Given the description of an element on the screen output the (x, y) to click on. 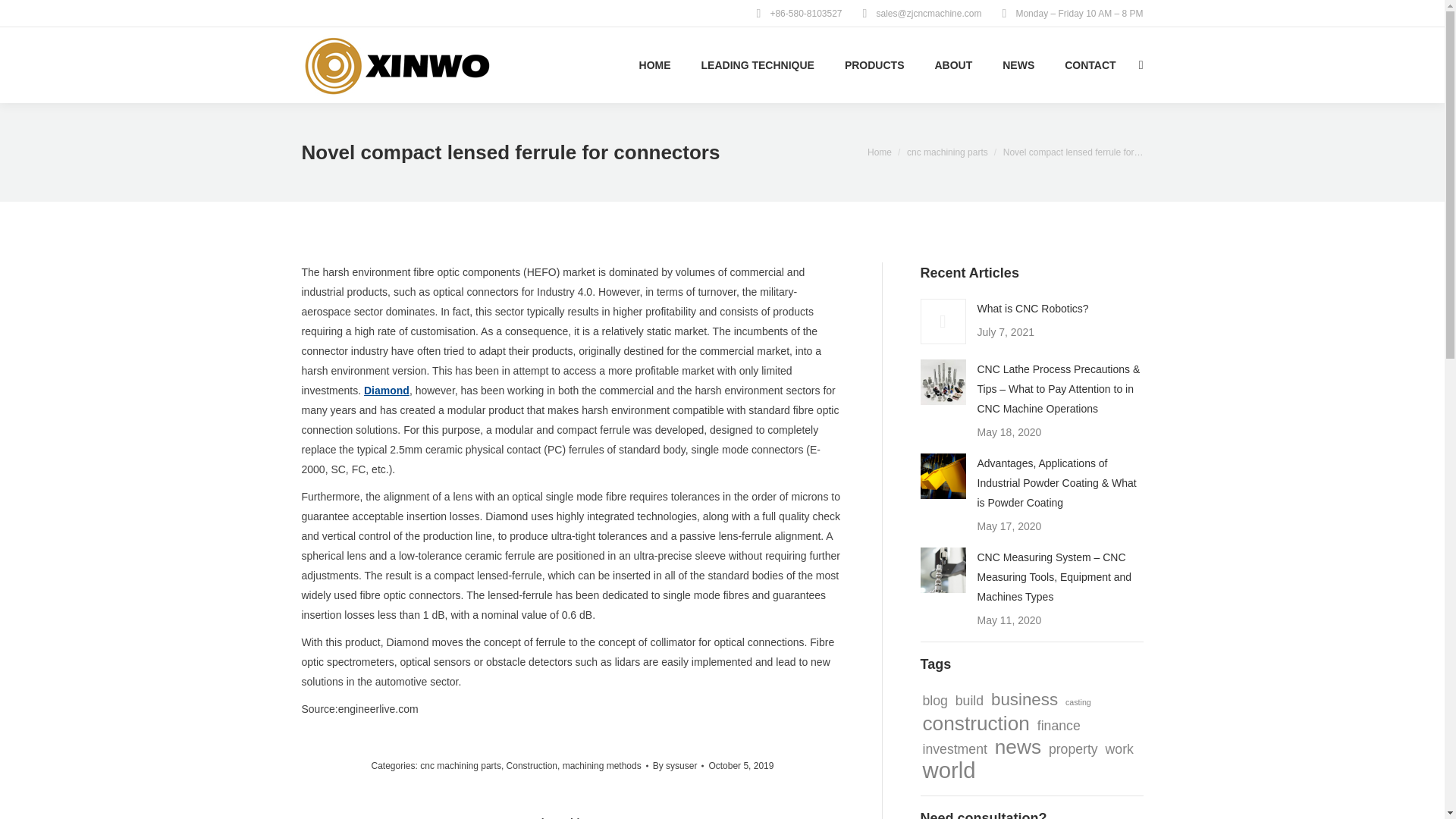
October 5, 2019 (740, 765)
Home (879, 152)
Go! (24, 15)
View all posts by sysuser (678, 765)
By sysuser (678, 765)
machining methods (602, 765)
Diamond (386, 390)
cnc machining parts (947, 152)
Construction (531, 765)
LEADING TECHNIQUE (757, 65)
